Given the description of an element on the screen output the (x, y) to click on. 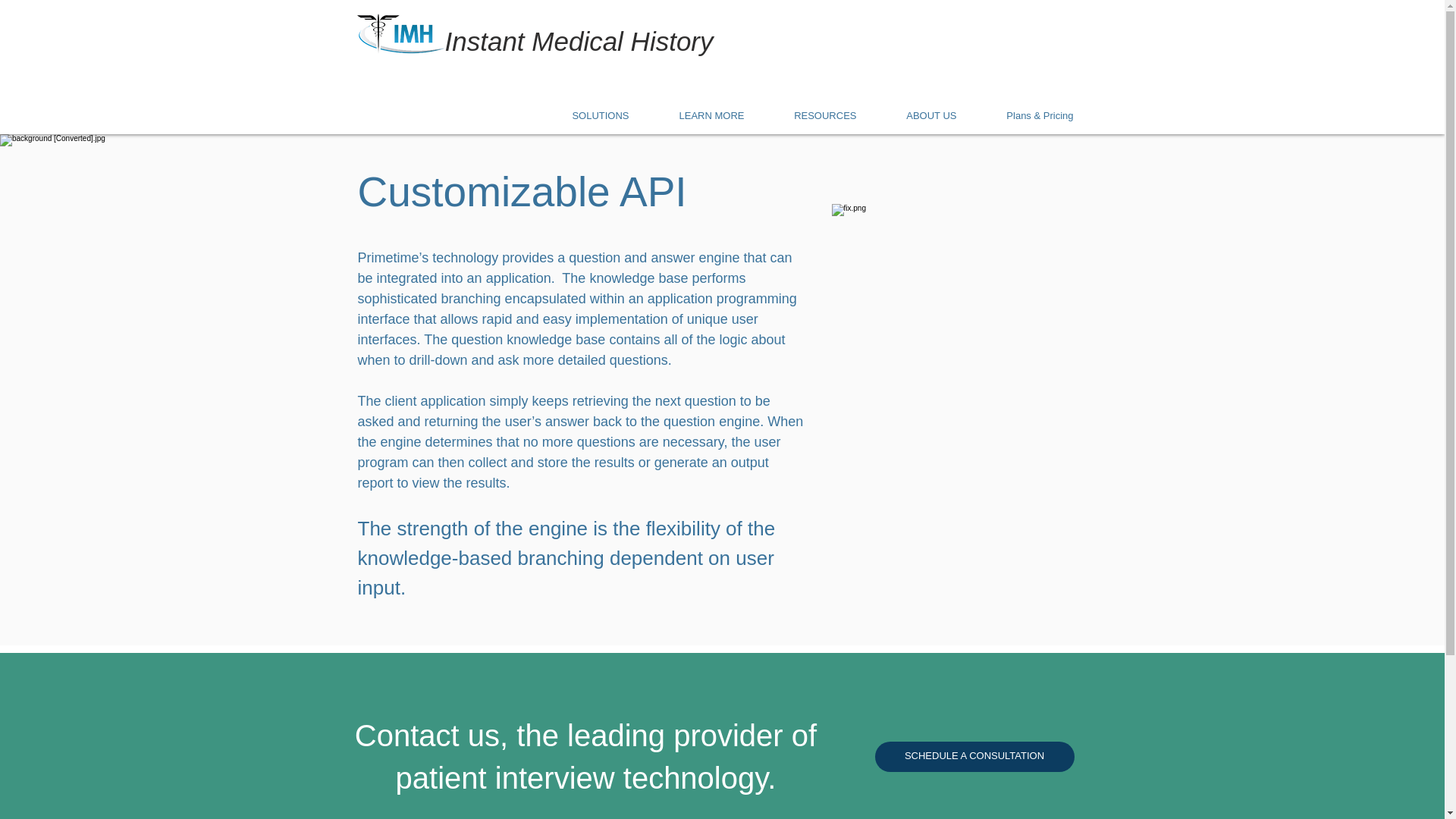
SCHEDULE A CONSULTATION (974, 757)
LEARN MORE (702, 115)
Instant Medical History (578, 41)
ABOUT US (922, 115)
